Given the description of an element on the screen output the (x, y) to click on. 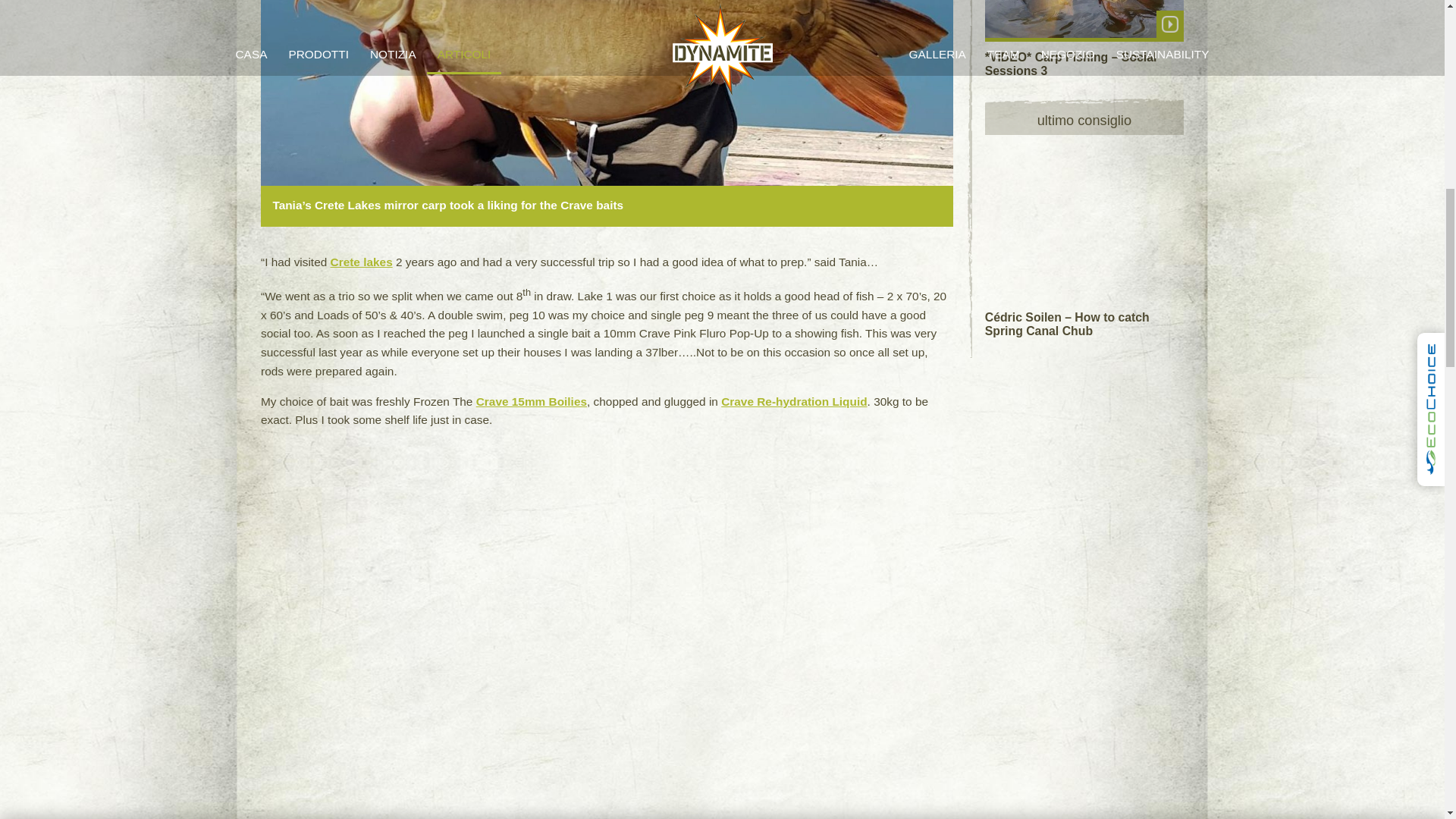
Crave 15mm Boilies (531, 400)
Crave Re-hydration Liquid (793, 400)
Crete lakes (361, 261)
